Given the description of an element on the screen output the (x, y) to click on. 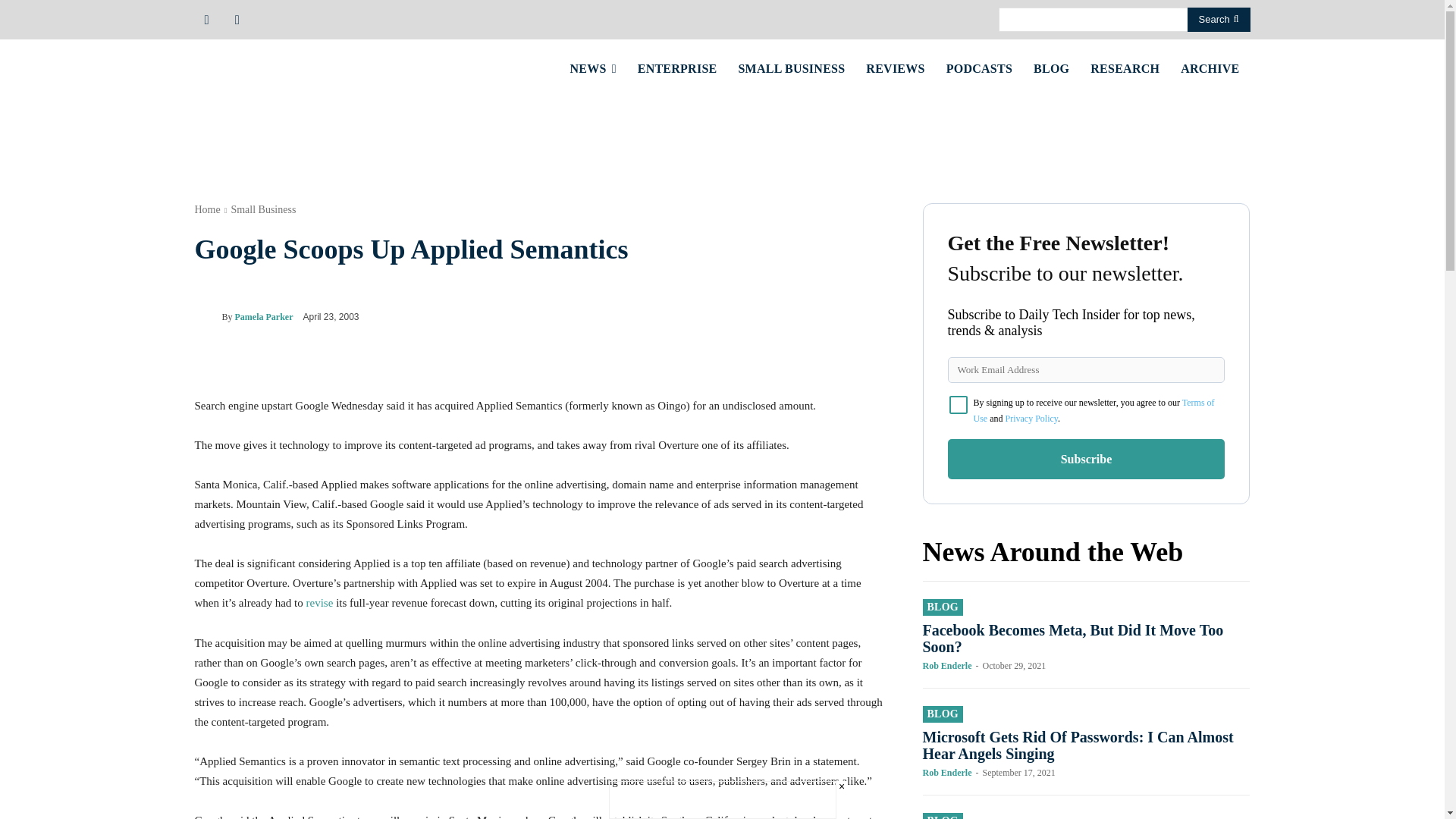
ENTERPRISE (677, 68)
Twitter (236, 18)
RESEARCH (1125, 68)
SMALL BUSINESS (791, 68)
NEWS (593, 68)
ARCHIVE (1209, 68)
REVIEWS (895, 68)
Pamela Parker (207, 316)
BLOG (1051, 68)
Search (1219, 19)
